Given the description of an element on the screen output the (x, y) to click on. 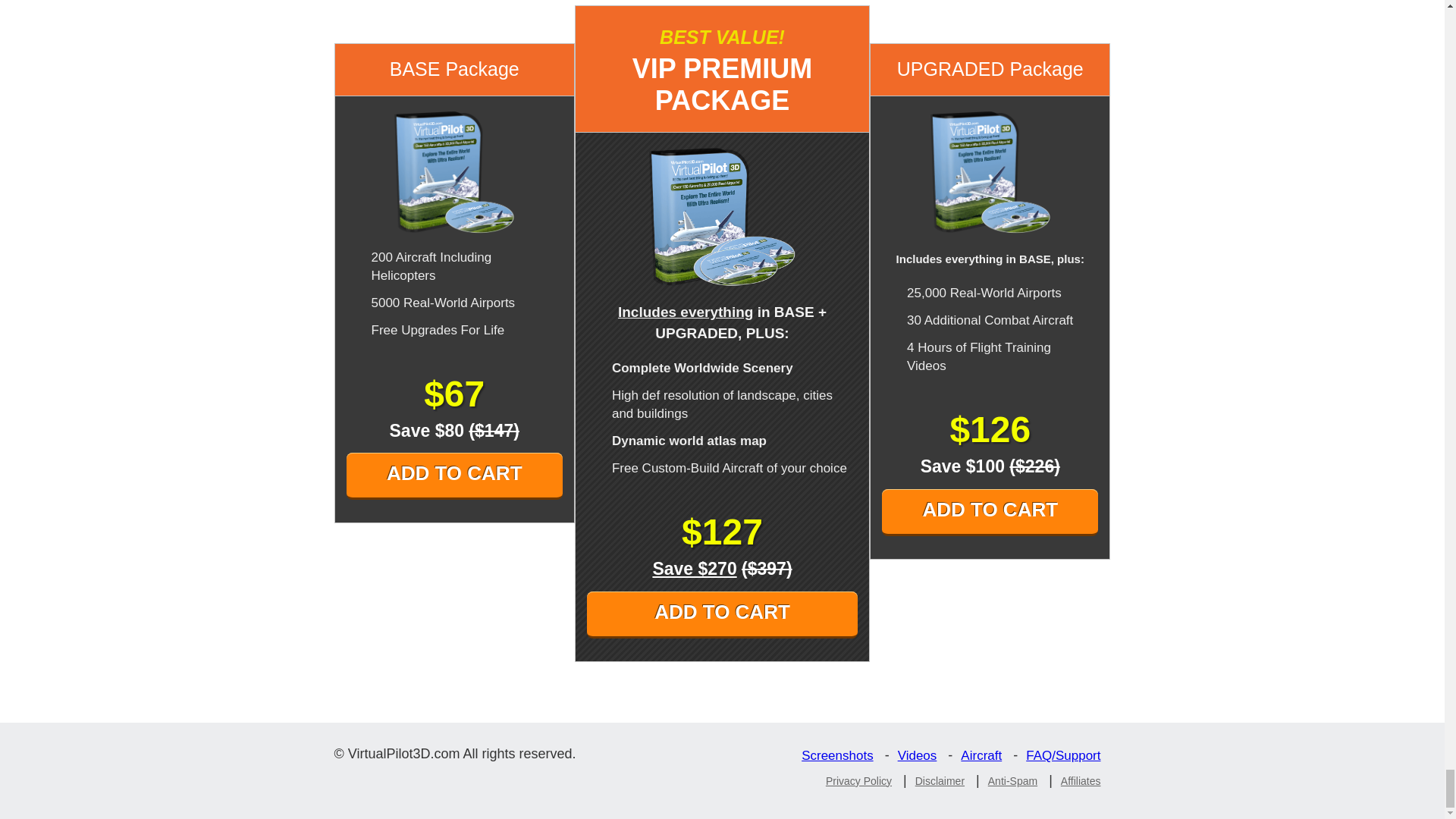
Affiliates (1084, 780)
ADD TO CART (454, 475)
Videos (921, 755)
Anti-Spam (1016, 780)
Privacy Policy (862, 780)
ADD TO CART (989, 512)
ADD TO CART (721, 614)
Screenshots (841, 755)
Disclaimer (943, 780)
Aircraft (984, 755)
